Given the description of an element on the screen output the (x, y) to click on. 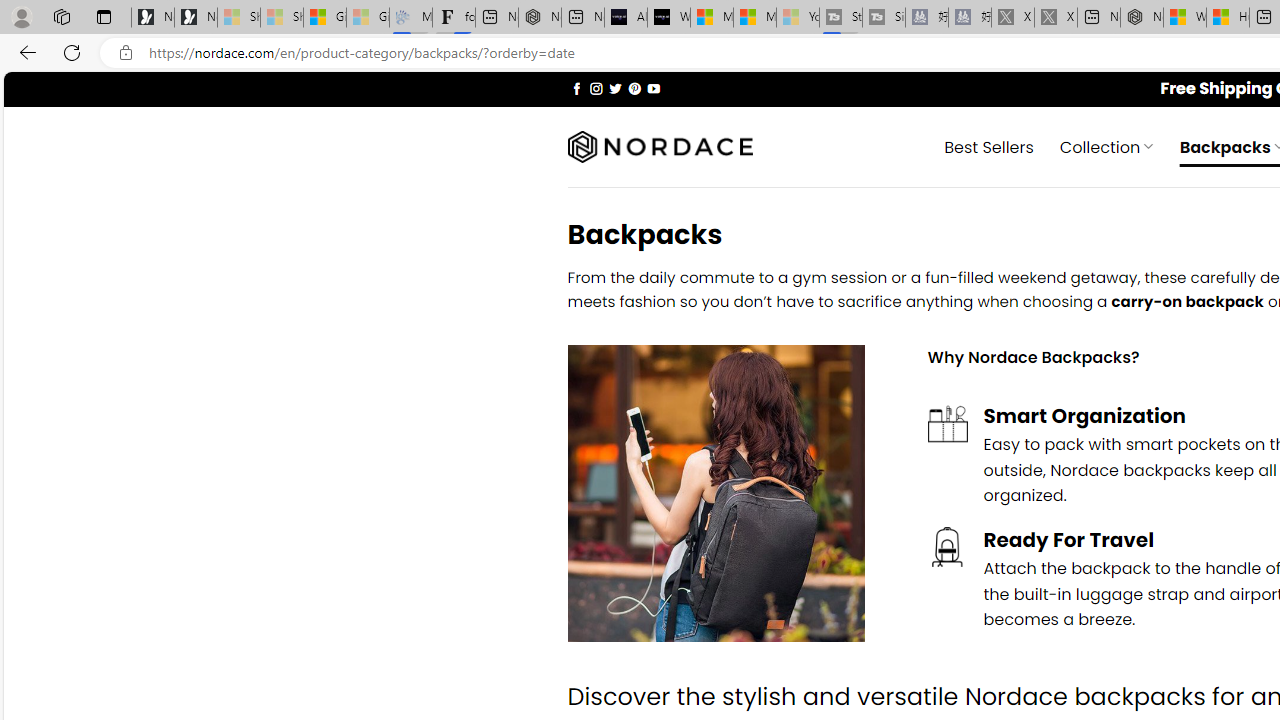
  Best Sellers (989, 146)
Follow on Facebook (576, 88)
Follow on Twitter (615, 88)
